Given the description of an element on the screen output the (x, y) to click on. 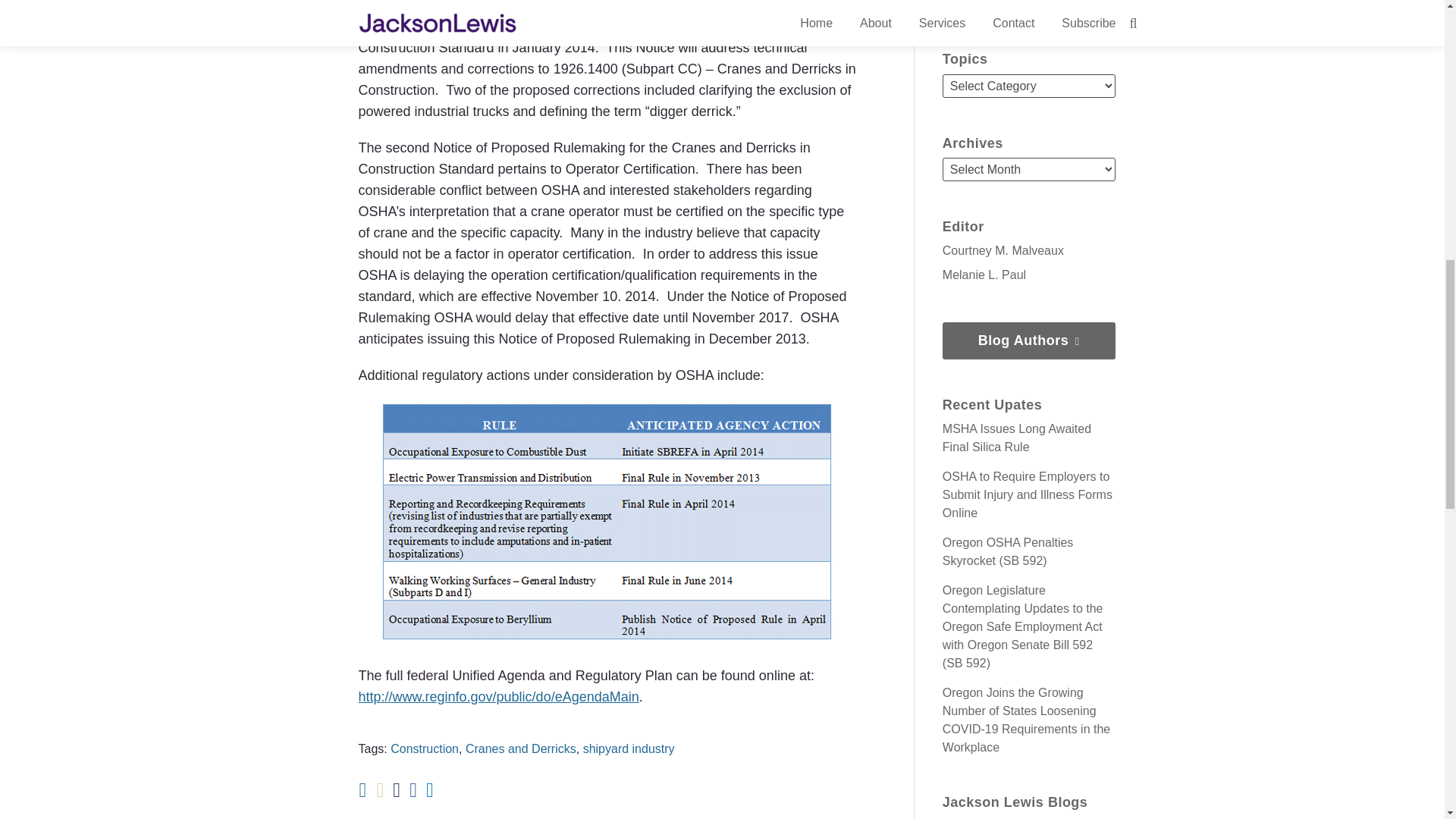
Subscribe (1028, 3)
Courtney M. Malveaux (1003, 250)
Subscribe (1028, 3)
Construction (424, 748)
Melanie L. Paul (984, 274)
shipyard industry (629, 748)
Cranes and Derricks (520, 748)
